Given the description of an element on the screen output the (x, y) to click on. 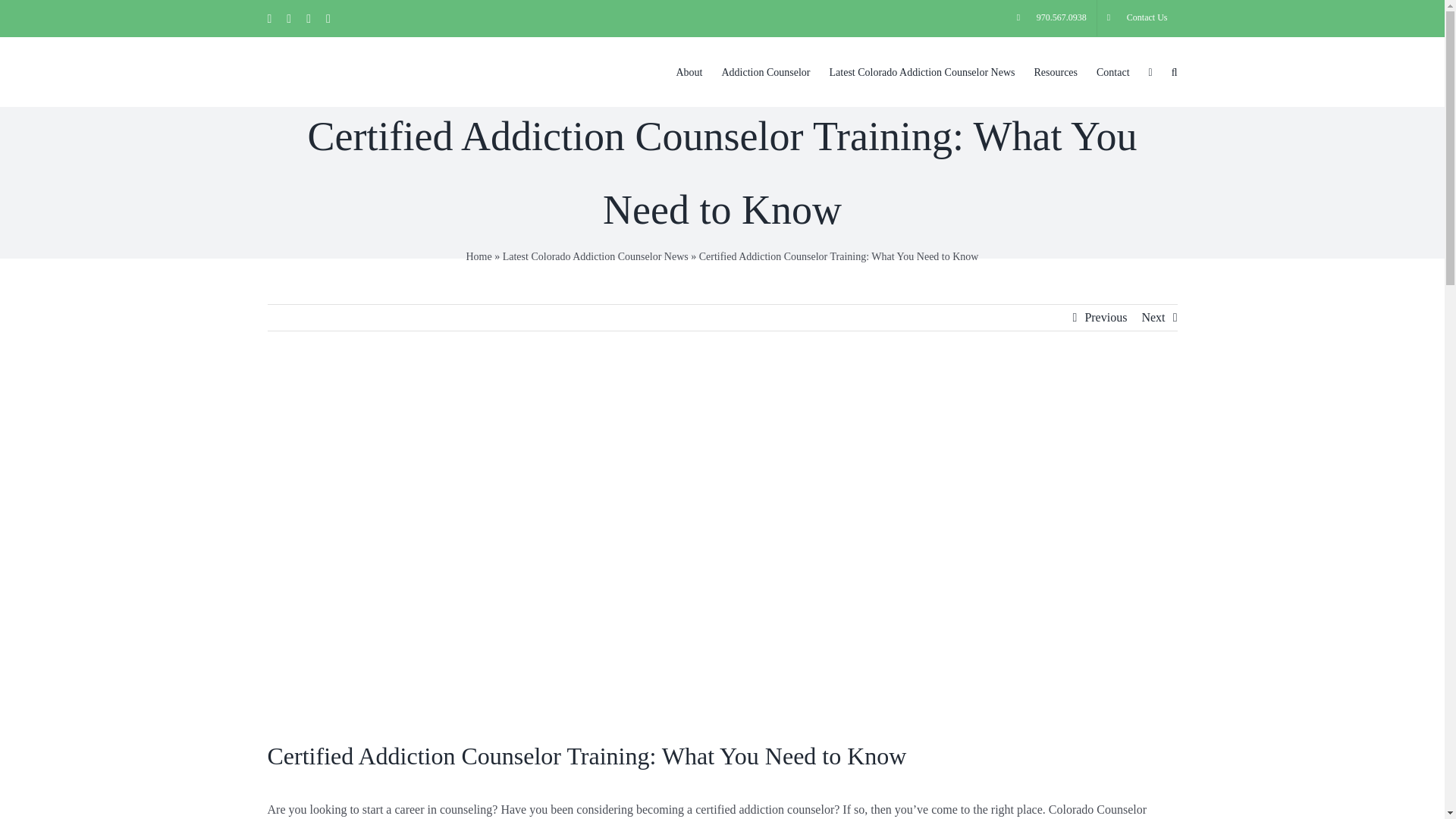
Addiction Counselor (764, 70)
Latest Colorado Addiction Counselor News (921, 70)
Next (1152, 317)
970.567.0938 (1051, 18)
Home (478, 256)
Contact Us (1137, 18)
Previous (1105, 317)
Latest Colorado Addiction Counselor News (595, 256)
